Given the description of an element on the screen output the (x, y) to click on. 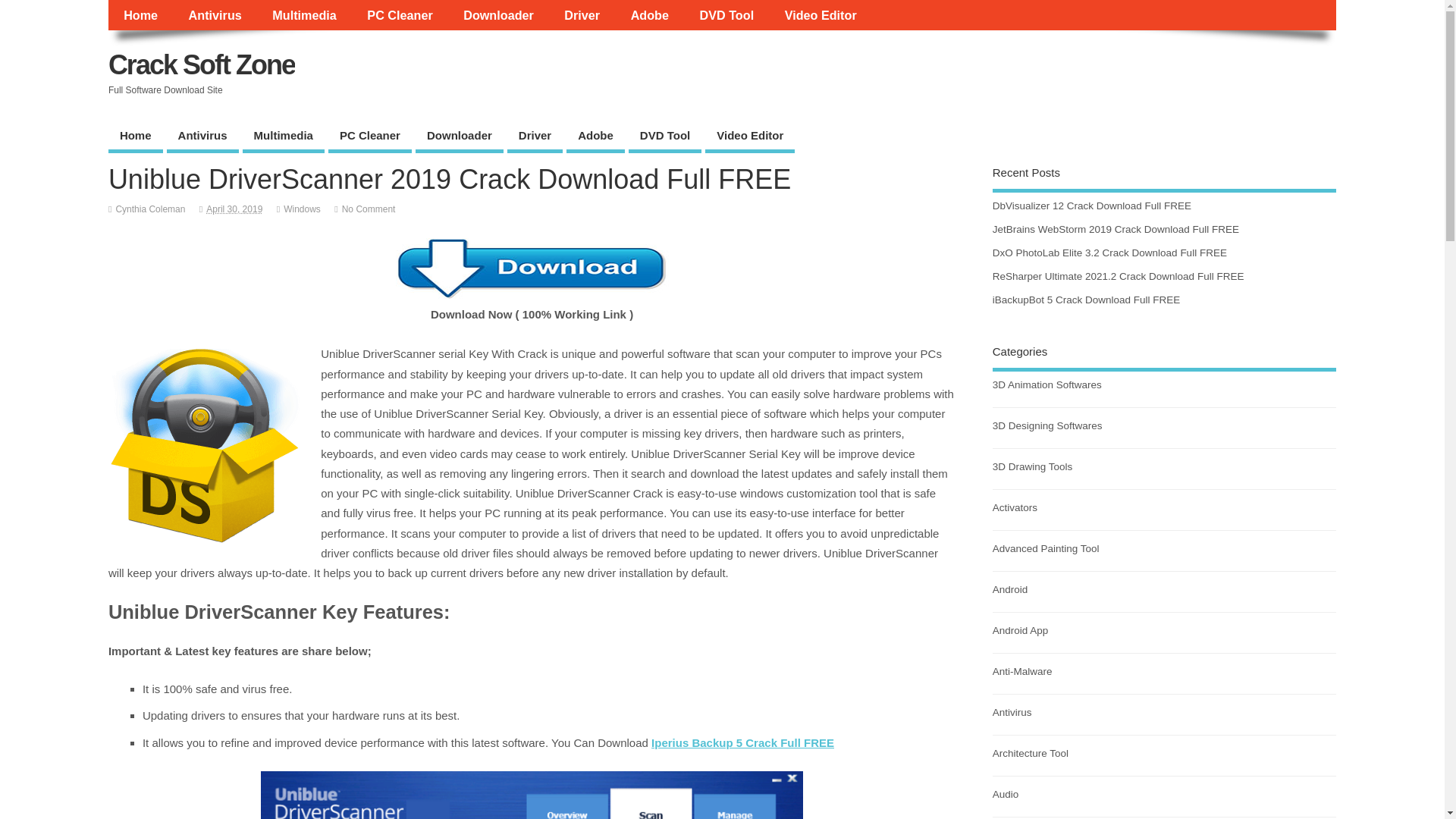
Cynthia Coleman (149, 208)
Video Editor (749, 136)
No Comment (369, 208)
DbVisualizer 12 Crack Download Full FREE (1091, 205)
Home (135, 136)
3D Animation Softwares (1047, 384)
ReSharper Ultimate 2021.2 Crack Download Full FREE (1118, 276)
Crack Soft Zone (201, 64)
JetBrains WebStorm 2019 Crack Download Full FREE (1115, 229)
Posts by Cynthia Coleman (149, 208)
Iperius Backup 5 Crack Full FREE (742, 742)
PC Cleaner (370, 136)
Multimedia (304, 15)
DVD Tool (726, 15)
PC Cleaner (400, 15)
